Given the description of an element on the screen output the (x, y) to click on. 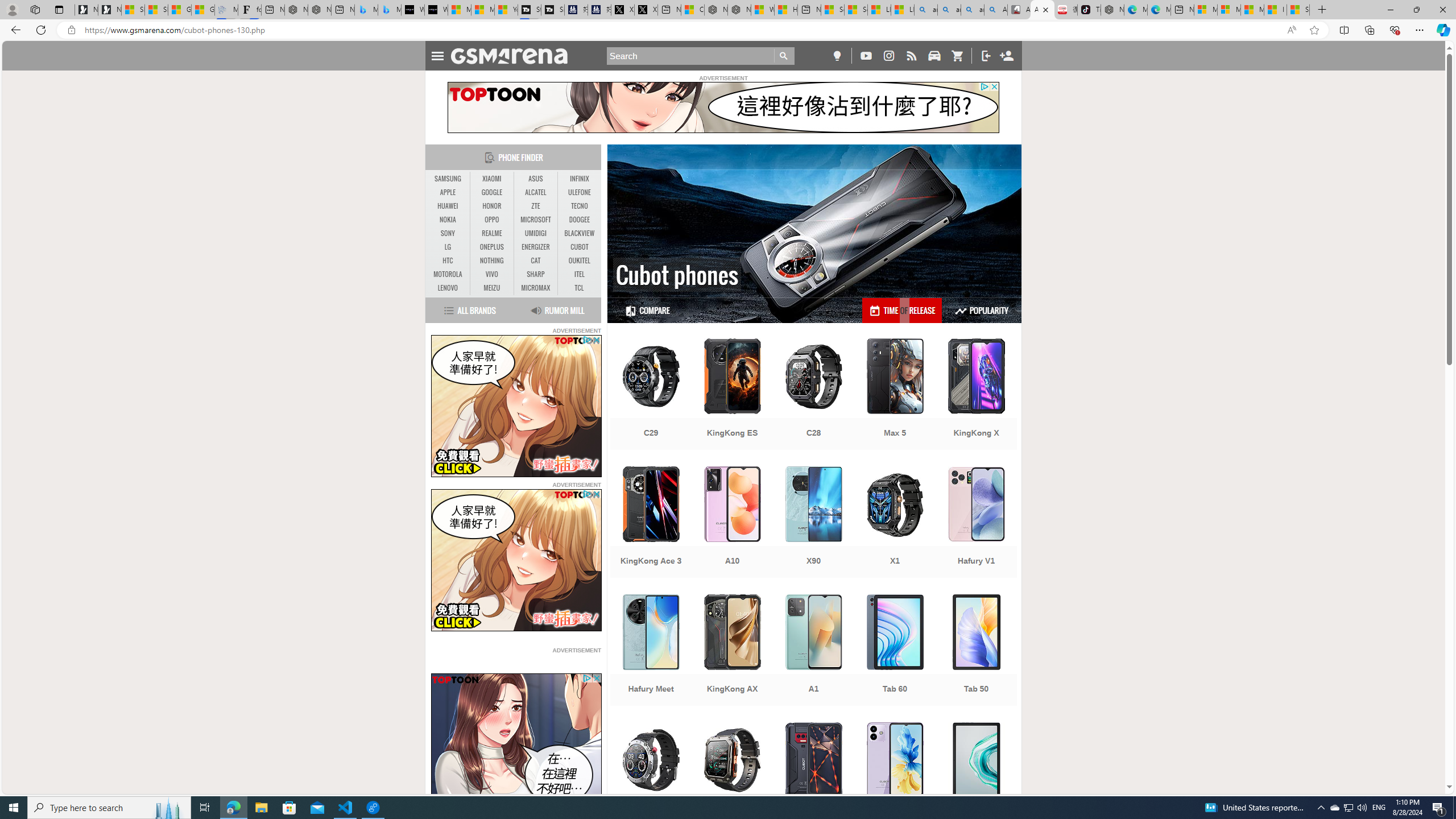
ENERGIZER (535, 246)
HONOR (491, 206)
MOTOROLA (448, 273)
Toggle Navigation (437, 53)
ZTE (535, 206)
ALCATEL (535, 192)
OUKITEL (579, 260)
HTC (448, 260)
INFINIX (579, 178)
Hafury Meet (650, 651)
Class: privacy_out (586, 678)
